Given the description of an element on the screen output the (x, y) to click on. 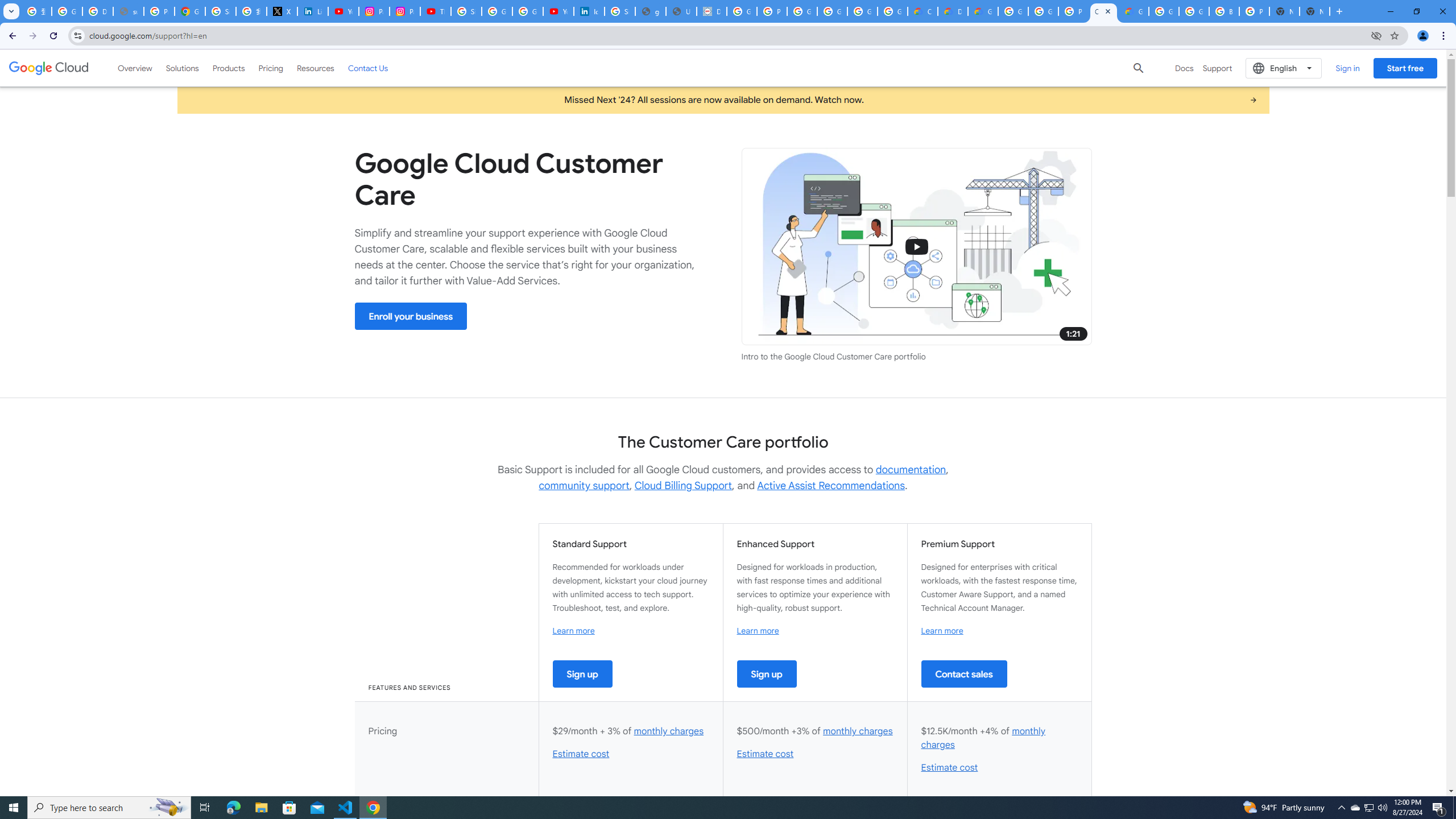
Google Cloud Service Health (1133, 11)
Identity verification via Persona | LinkedIn Help (589, 11)
New Tab (1314, 11)
Google Cloud Platform (1012, 11)
community support (583, 485)
Sign up (766, 673)
Sign in - Google Accounts (220, 11)
Customer Care | Google Cloud (1103, 11)
documentation (910, 469)
